Given the description of an element on the screen output the (x, y) to click on. 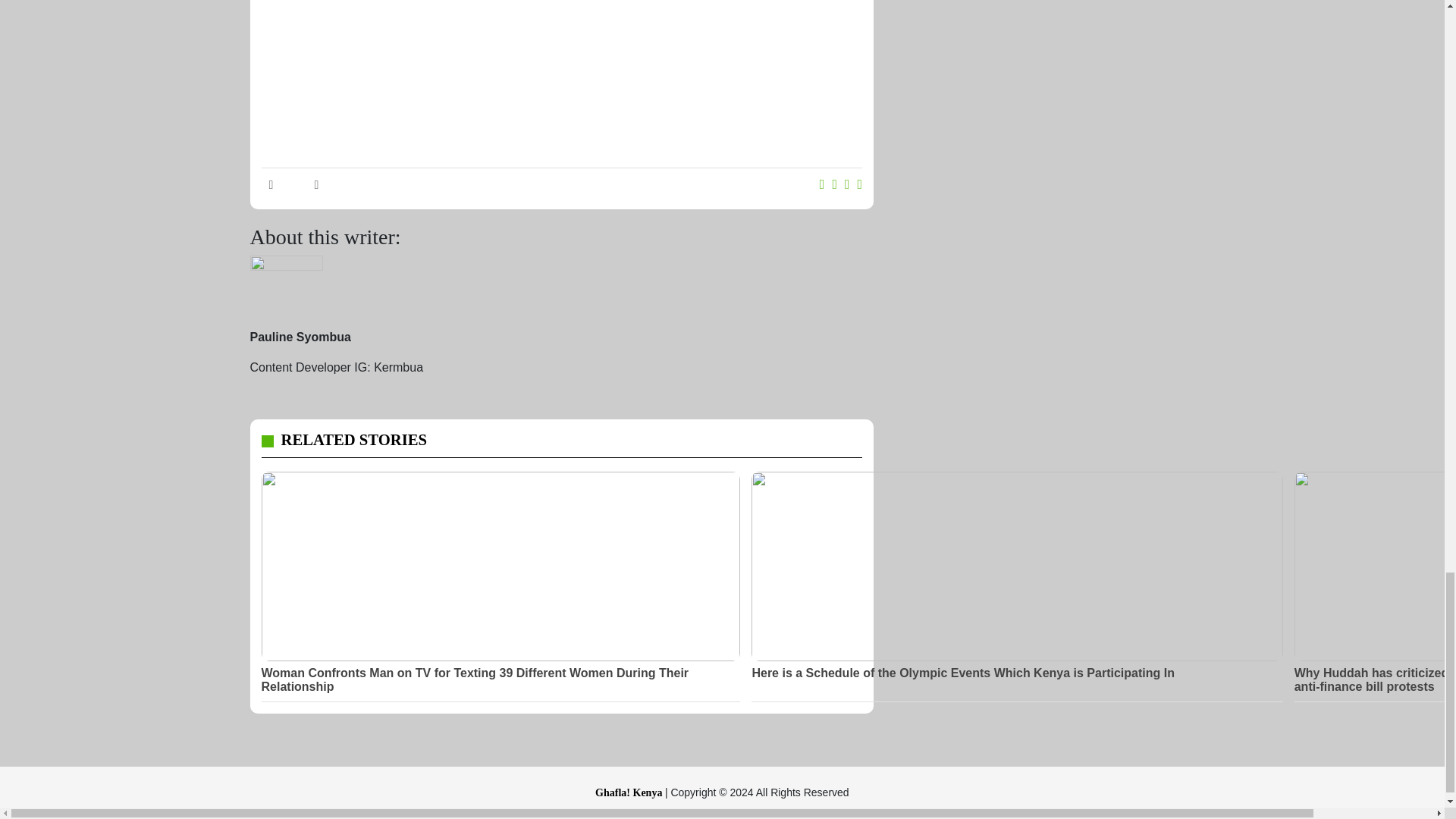
Share by Email (860, 184)
Ghafla! Kenya (630, 792)
